Given the description of an element on the screen output the (x, y) to click on. 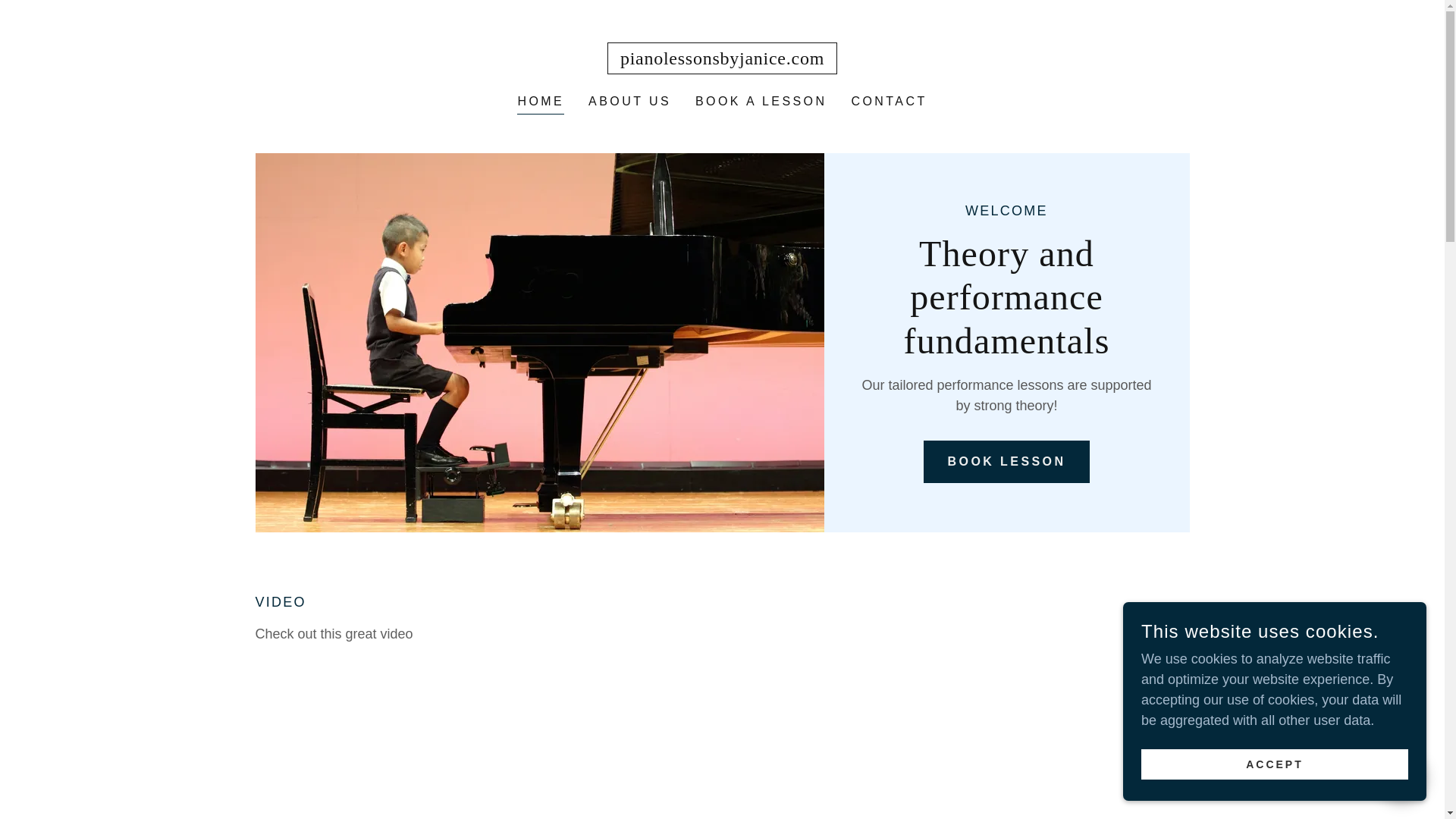
HOME (540, 103)
ACCEPT (1274, 764)
pianolessonsbyjanice.com (722, 59)
BOOK LESSON (1006, 461)
ABOUT US (629, 101)
pianolessonsbyjanice.com (722, 59)
BOOK A LESSON (760, 101)
CONTACT (888, 101)
